Given the description of an element on the screen output the (x, y) to click on. 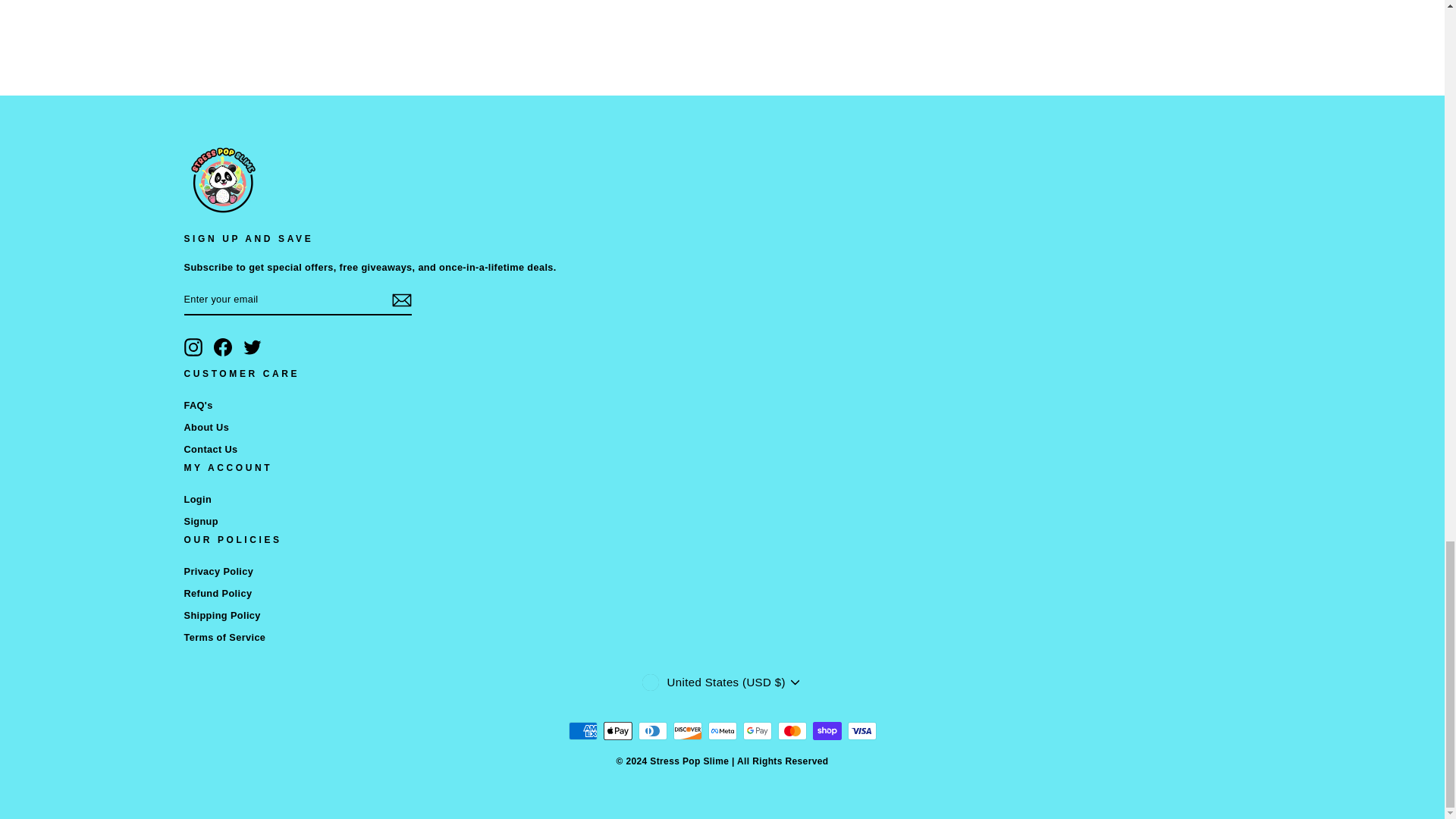
Meta Pay (721, 730)
Stress Pop Slime on Instagram (192, 347)
Discover (686, 730)
Apple Pay (617, 730)
Stress Pop Slime on Facebook (222, 347)
Google Pay (756, 730)
American Express (582, 730)
Stress Pop Slime on Twitter (251, 347)
Diners Club (652, 730)
